Given the description of an element on the screen output the (x, y) to click on. 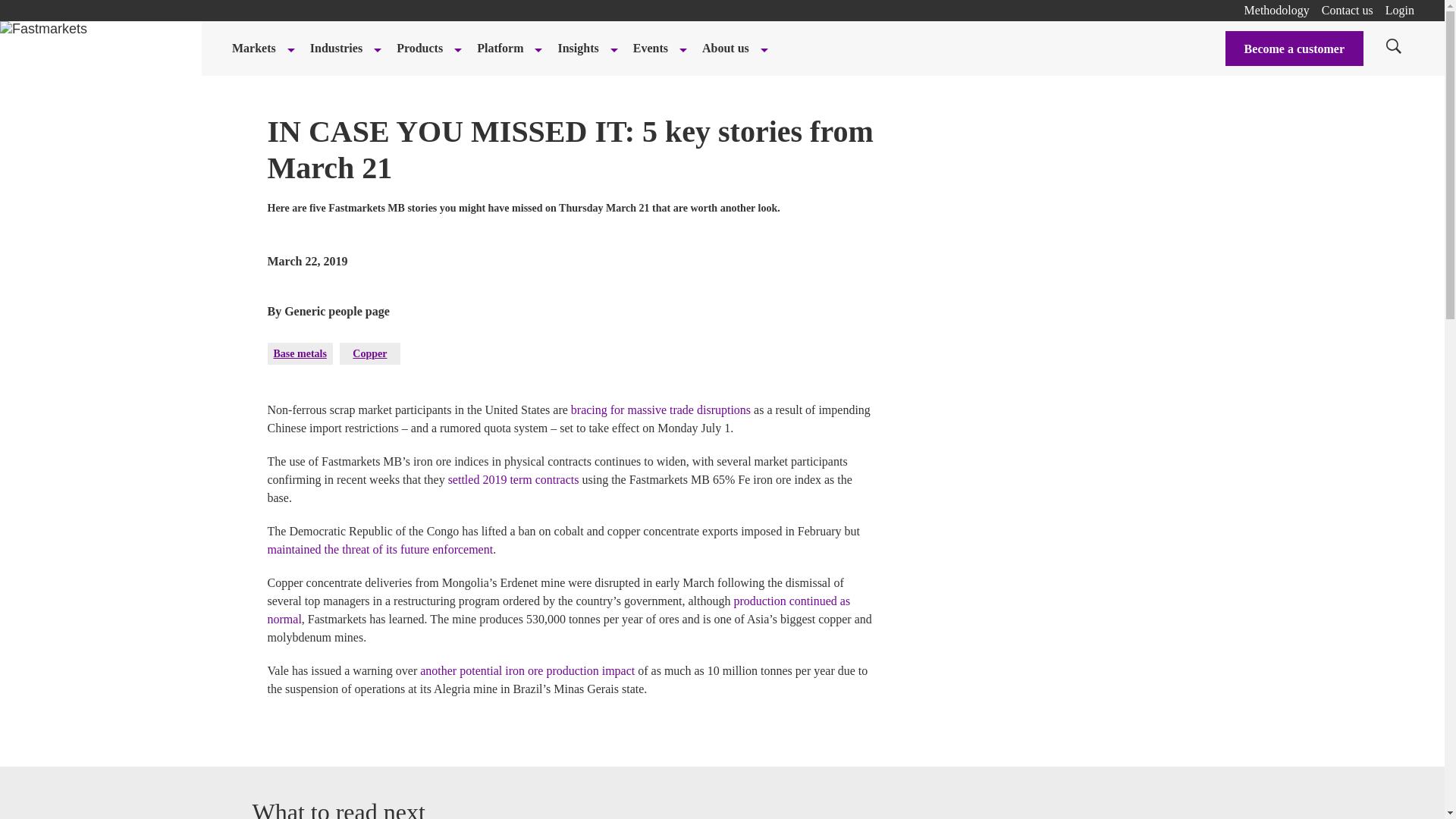
Login (1399, 10)
Methodology (1276, 10)
Contact us (1347, 10)
